Given the description of an element on the screen output the (x, y) to click on. 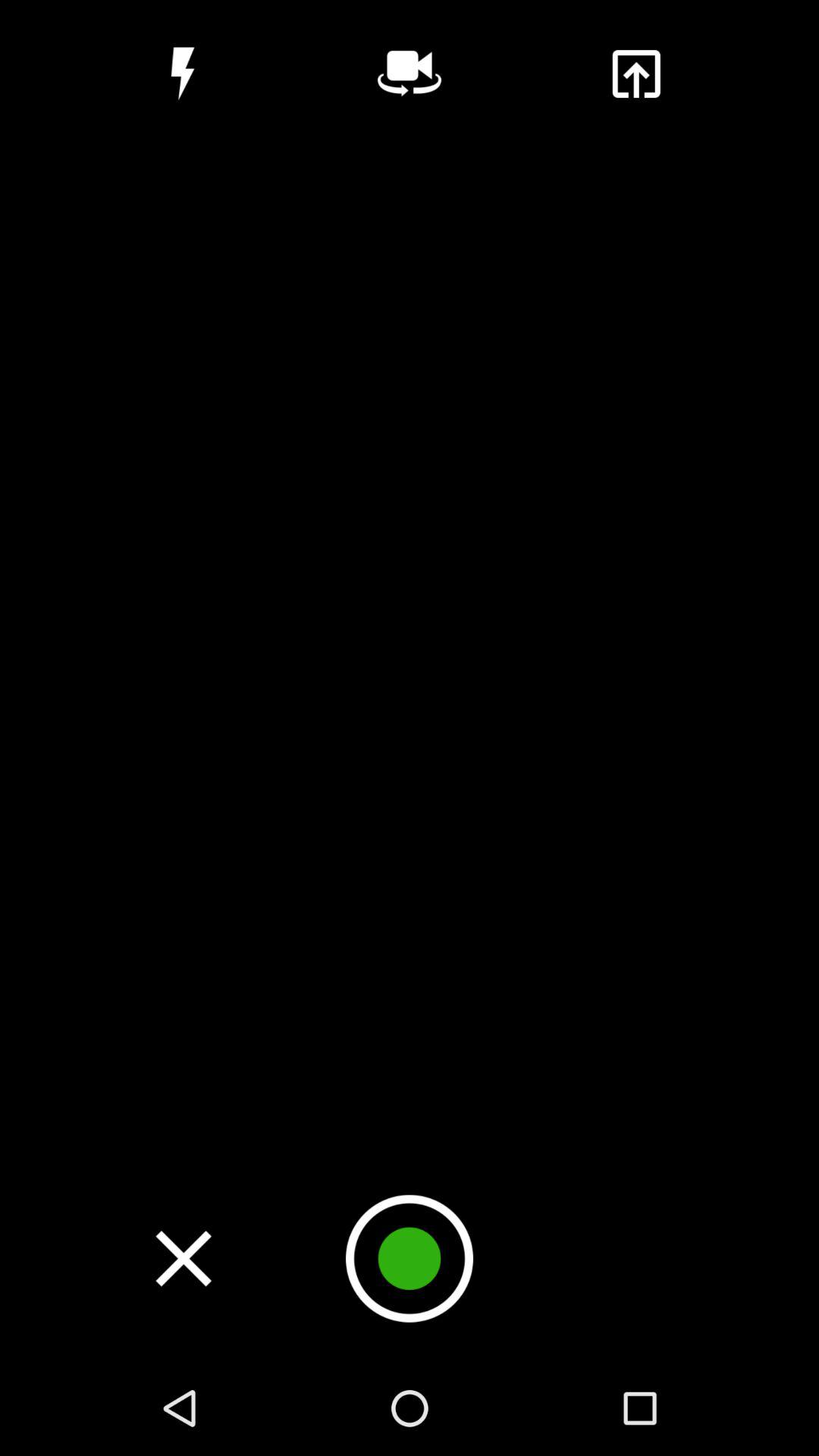
share (635, 73)
